Given the description of an element on the screen output the (x, y) to click on. 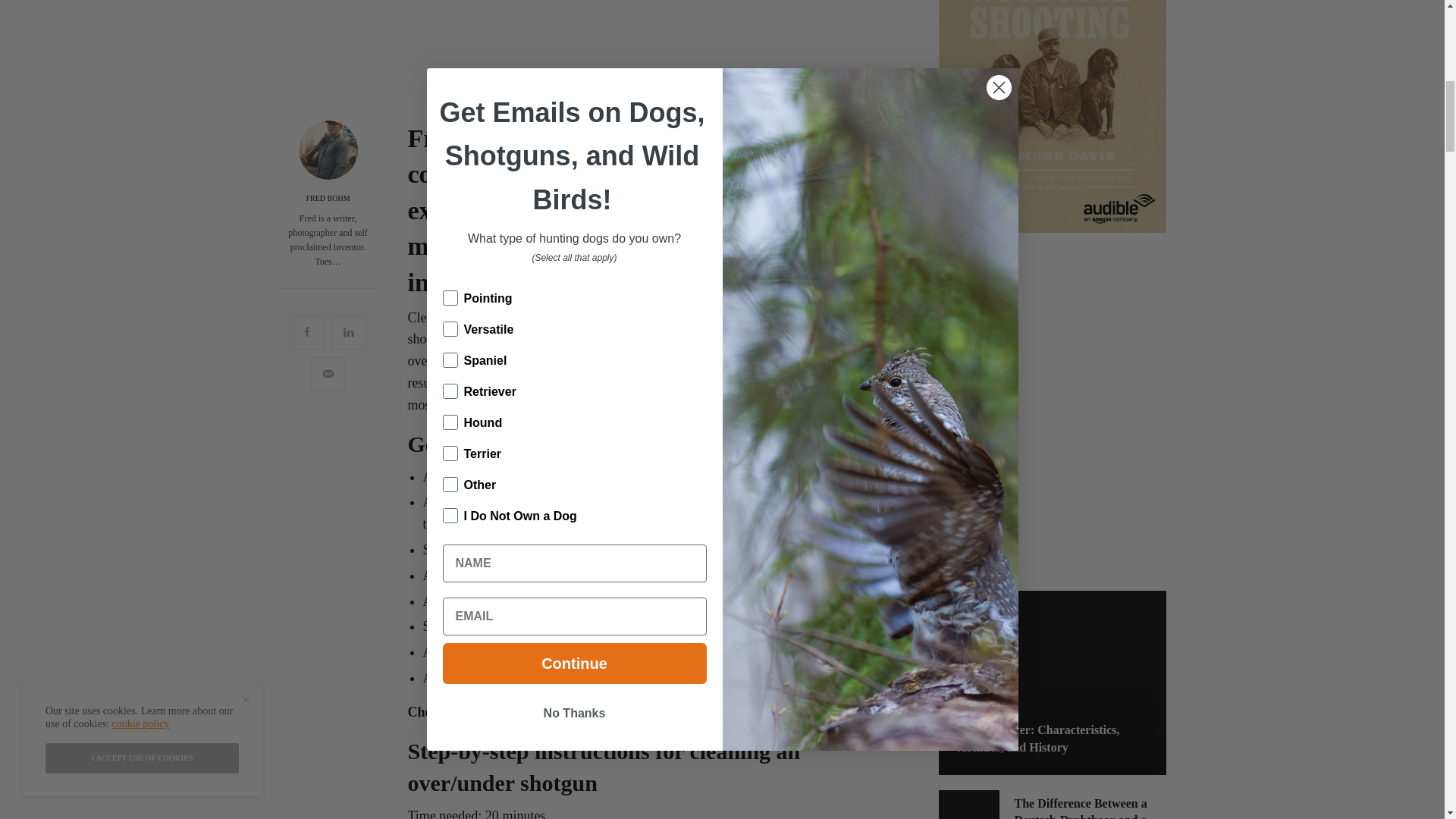
English Setter: Characteristics, Abilities, and History (1051, 738)
